Given the description of an element on the screen output the (x, y) to click on. 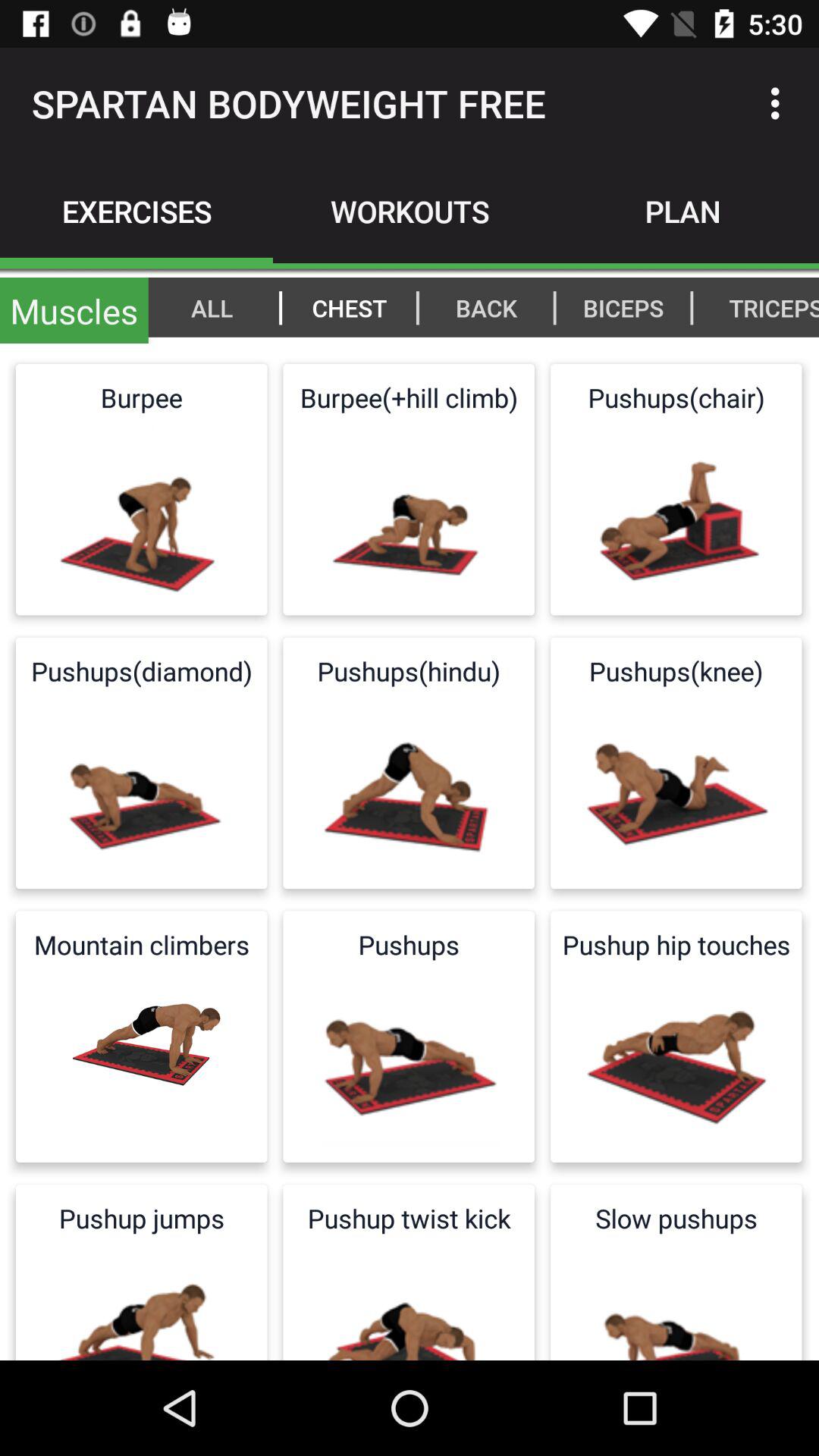
choose the icon next to | (765, 307)
